Given the description of an element on the screen output the (x, y) to click on. 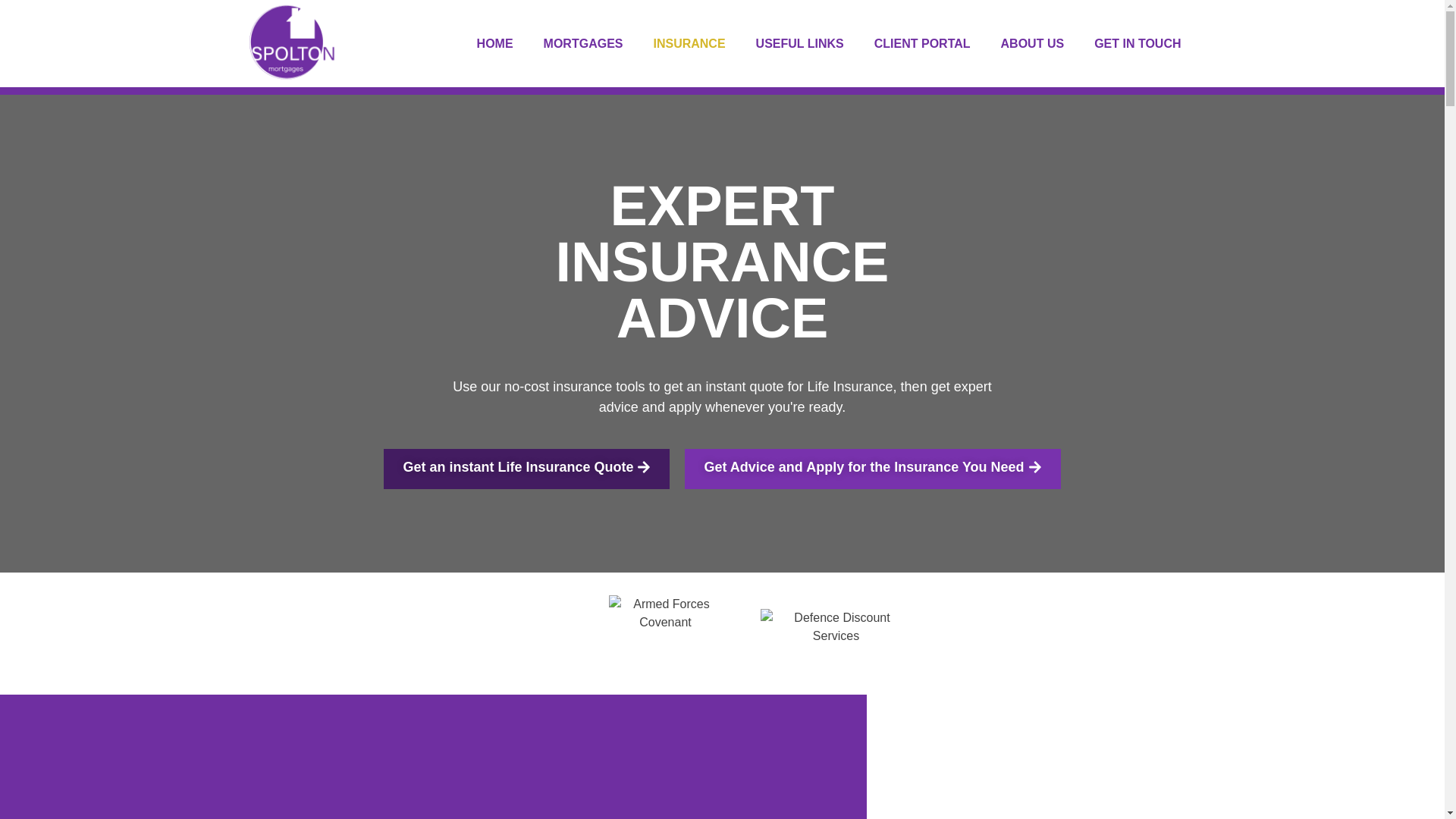
GET IN TOUCH (1136, 42)
HOME (494, 42)
ABOUT US (1032, 42)
INSURANCE (688, 42)
MORTGAGES (583, 42)
CLIENT PORTAL (922, 42)
USEFUL LINKS (800, 42)
